Given the description of an element on the screen output the (x, y) to click on. 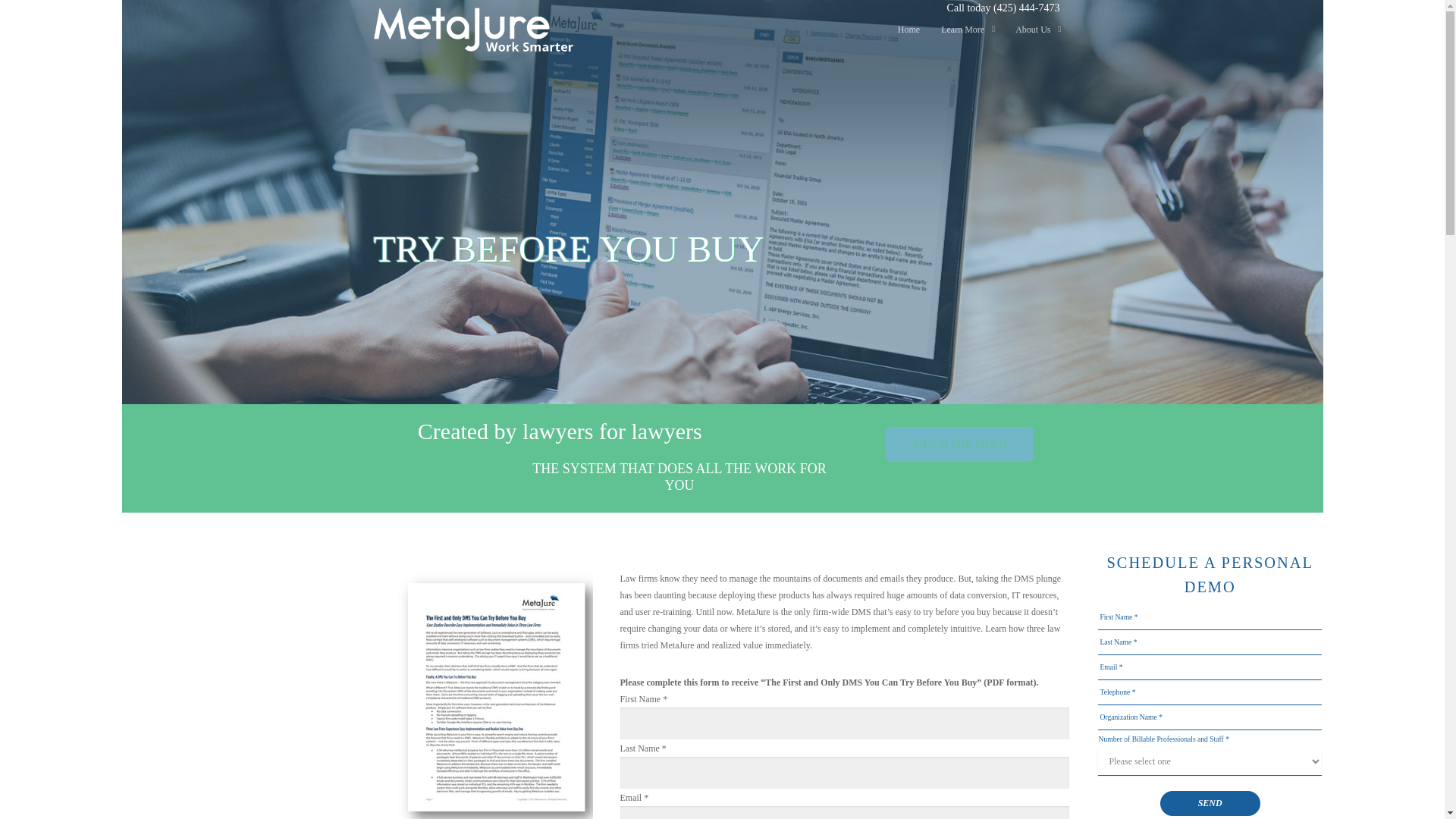
Send (1210, 803)
About Us (1038, 30)
Learn More (967, 30)
Home (909, 29)
